Given the description of an element on the screen output the (x, y) to click on. 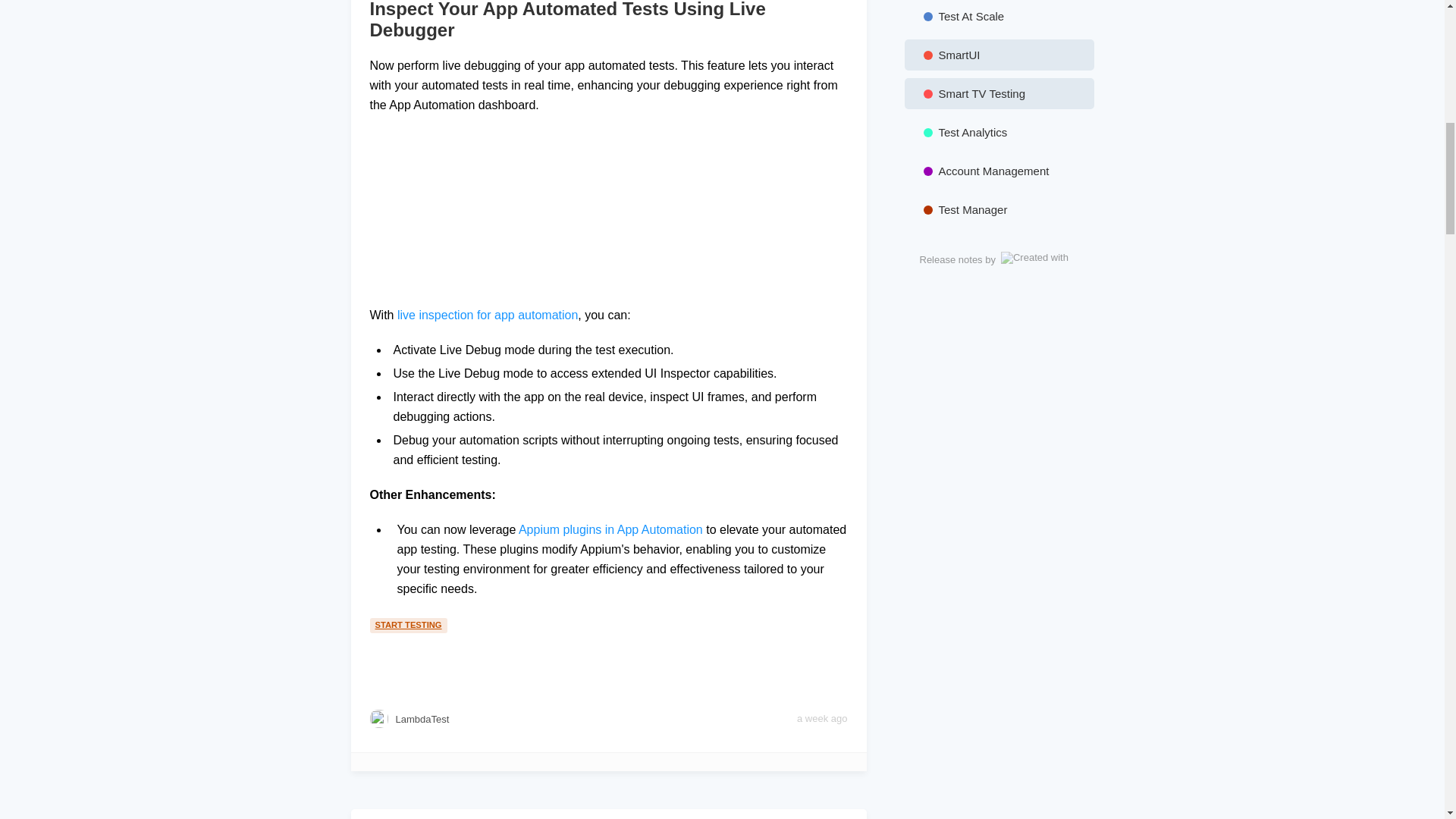
START TESTING (410, 623)
Appium plugins in App Automation (610, 529)
Inspect Your App Automated Tests Using Live Debugger (608, 20)
live inspection for app automation (487, 314)
a week ago (821, 719)
